Given the description of an element on the screen output the (x, y) to click on. 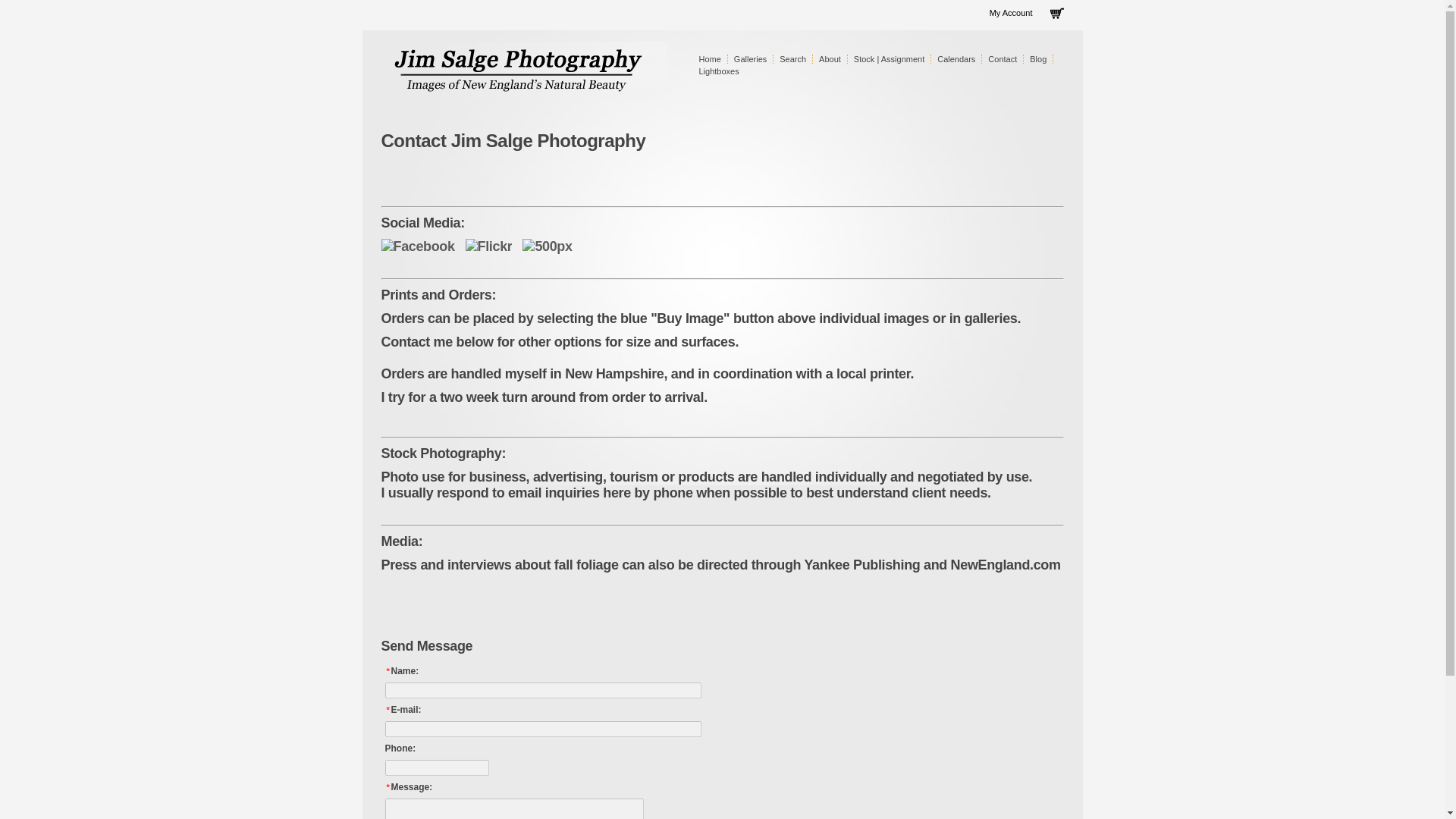
Search (792, 59)
Home (709, 59)
Contact (1002, 59)
My Account (1011, 12)
Facebook (417, 246)
Blog (1037, 59)
Search (792, 59)
Blog (1037, 59)
Lightboxes (718, 70)
Cart (1054, 14)
Calendars (956, 59)
Calendars (956, 59)
Jim Salge Photography 500px (547, 246)
Galleries (750, 59)
My Account (1011, 12)
